Given the description of an element on the screen output the (x, y) to click on. 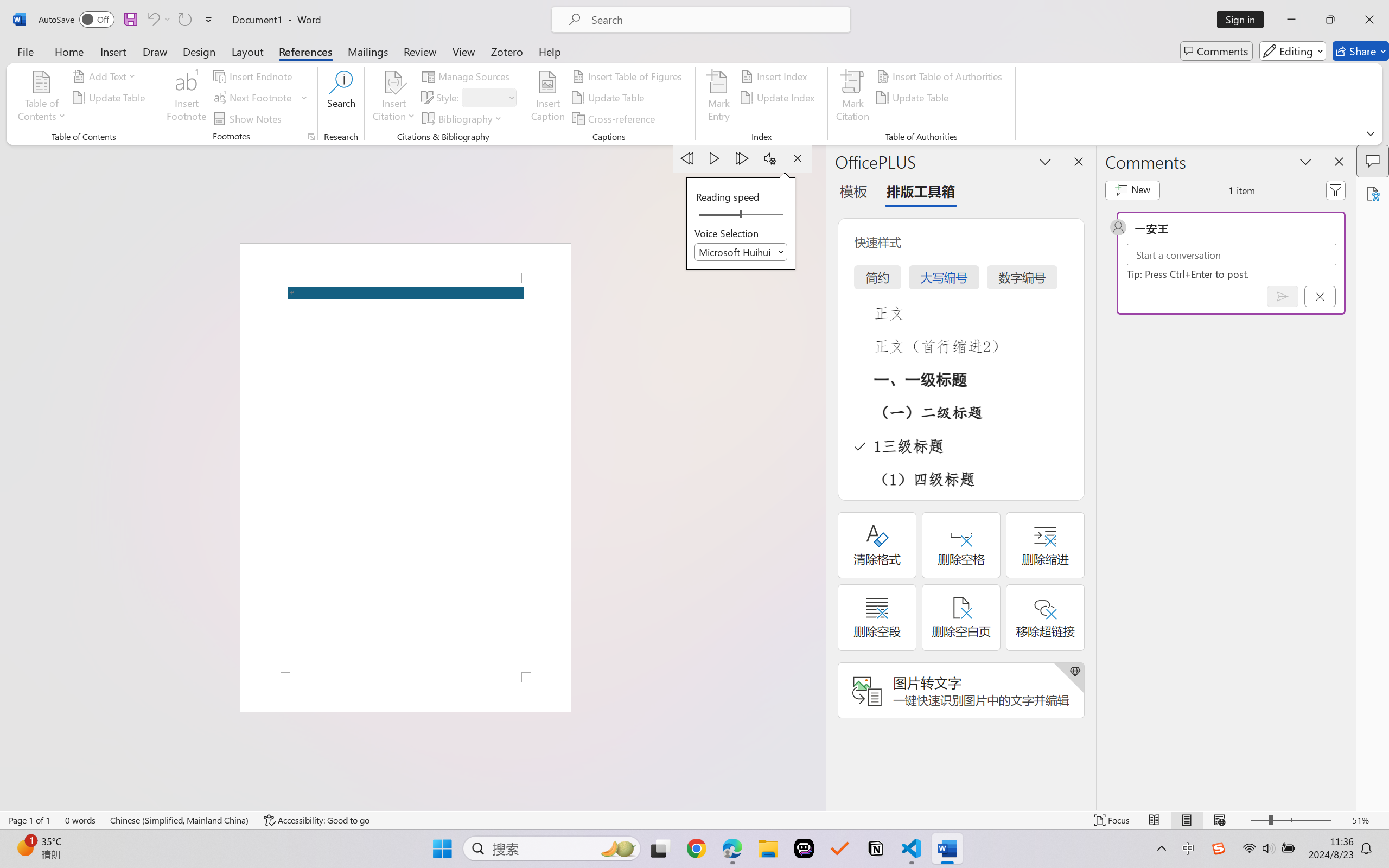
Insert Table of Figures... (628, 75)
Insert Index... (775, 75)
Play (715, 158)
Post comment (Ctrl + Enter) (1282, 296)
Insert Table of Authorities... (941, 75)
Repeat Accessibility Checker (184, 19)
Manage Sources... (467, 75)
Previous Paragraph (687, 158)
